Given the description of an element on the screen output the (x, y) to click on. 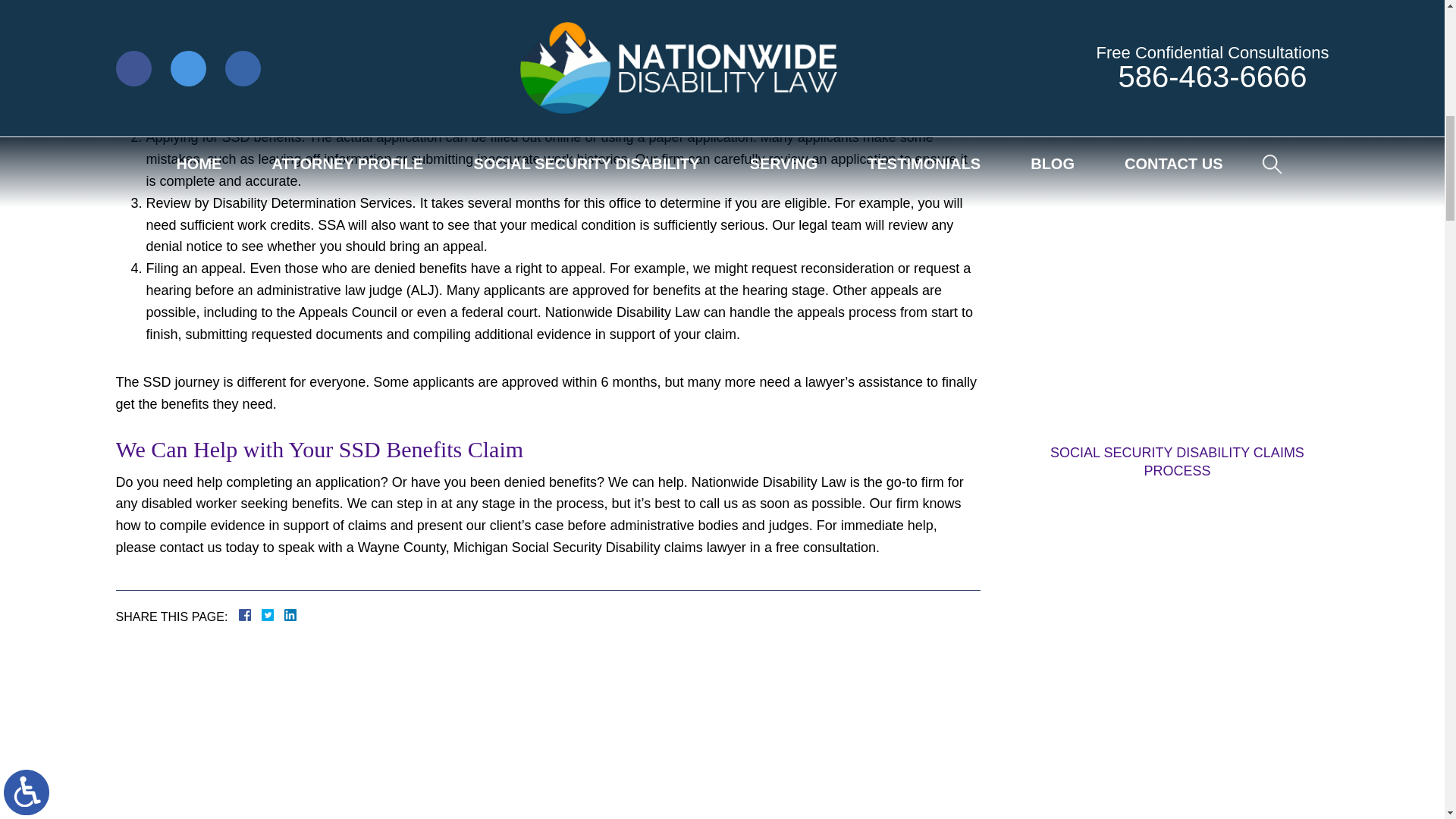
Facebook (262, 614)
SOCIAL SECURITY DISABILITY (1176, 53)
SOCIAL SECURITY DISABILITY ELIGIBILITY (1176, 660)
LinkedIn (284, 614)
Twitter (273, 614)
